Given the description of an element on the screen output the (x, y) to click on. 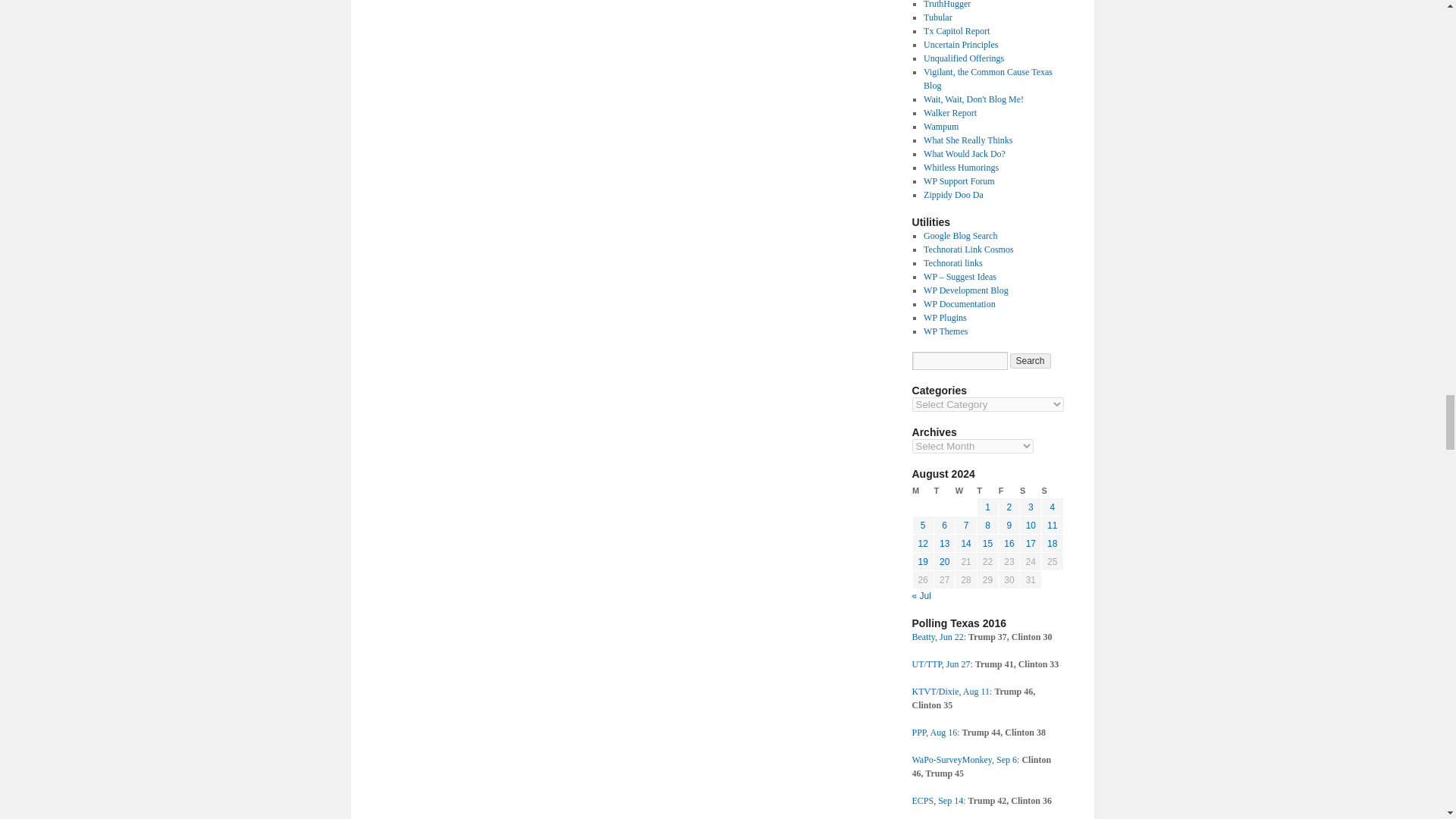
Wednesday (965, 490)
Monday (922, 490)
Search (1030, 360)
Thursday (986, 490)
Tuesday (944, 490)
